Given the description of an element on the screen output the (x, y) to click on. 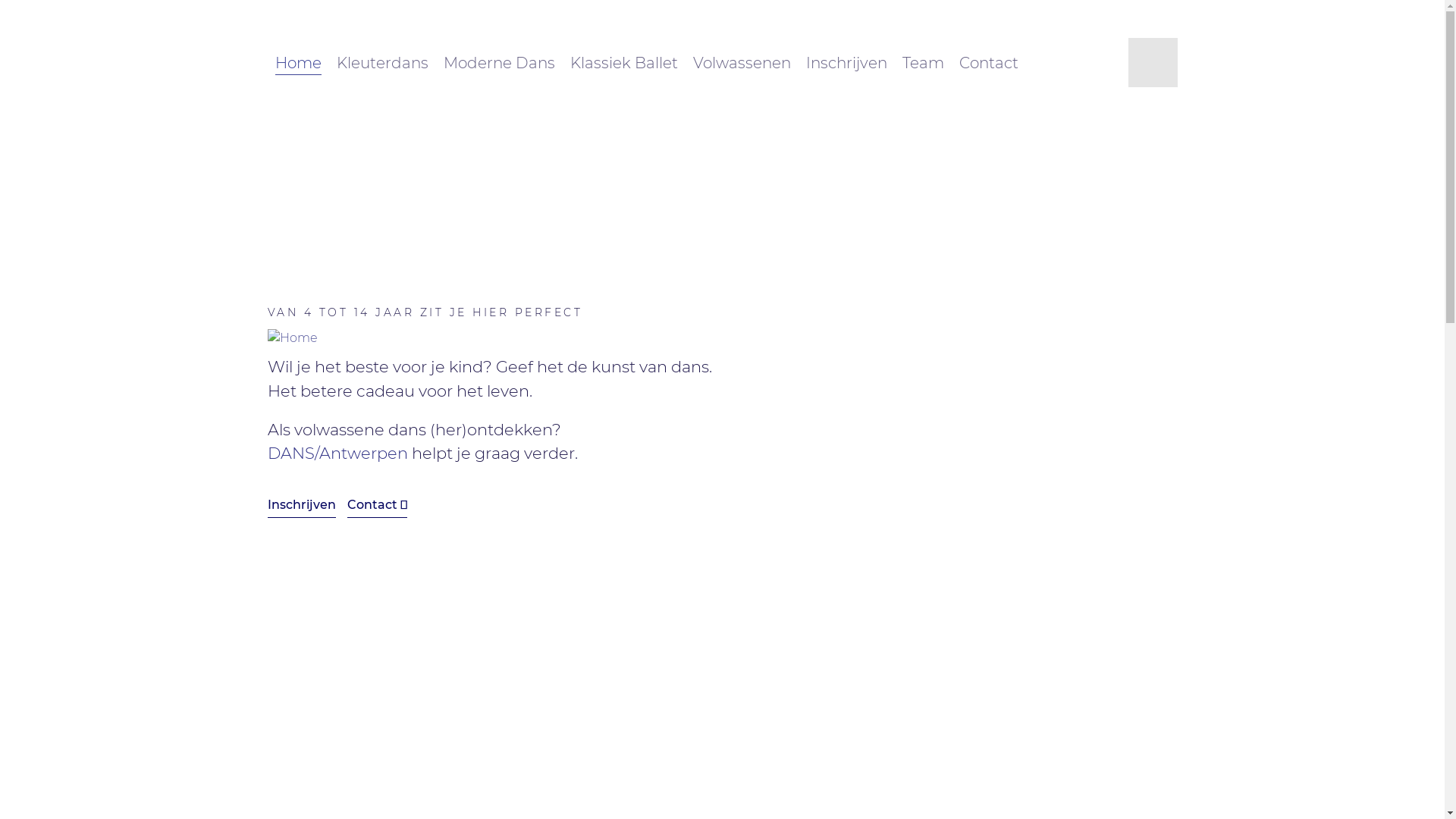
Kleuterdans Element type: text (382, 62)
Inschrijven Element type: text (845, 62)
Home Element type: text (297, 62)
Moderne Dans Element type: text (498, 62)
Klassiek Ballet Element type: text (623, 62)
Contact Element type: text (987, 62)
dansA!pen Element type: hover (1152, 62)
Volwassenen Element type: text (741, 62)
DANS/Antwerpen Element type: text (336, 452)
Team Element type: text (922, 62)
Inschrijven Element type: text (300, 504)
